Given the description of an element on the screen output the (x, y) to click on. 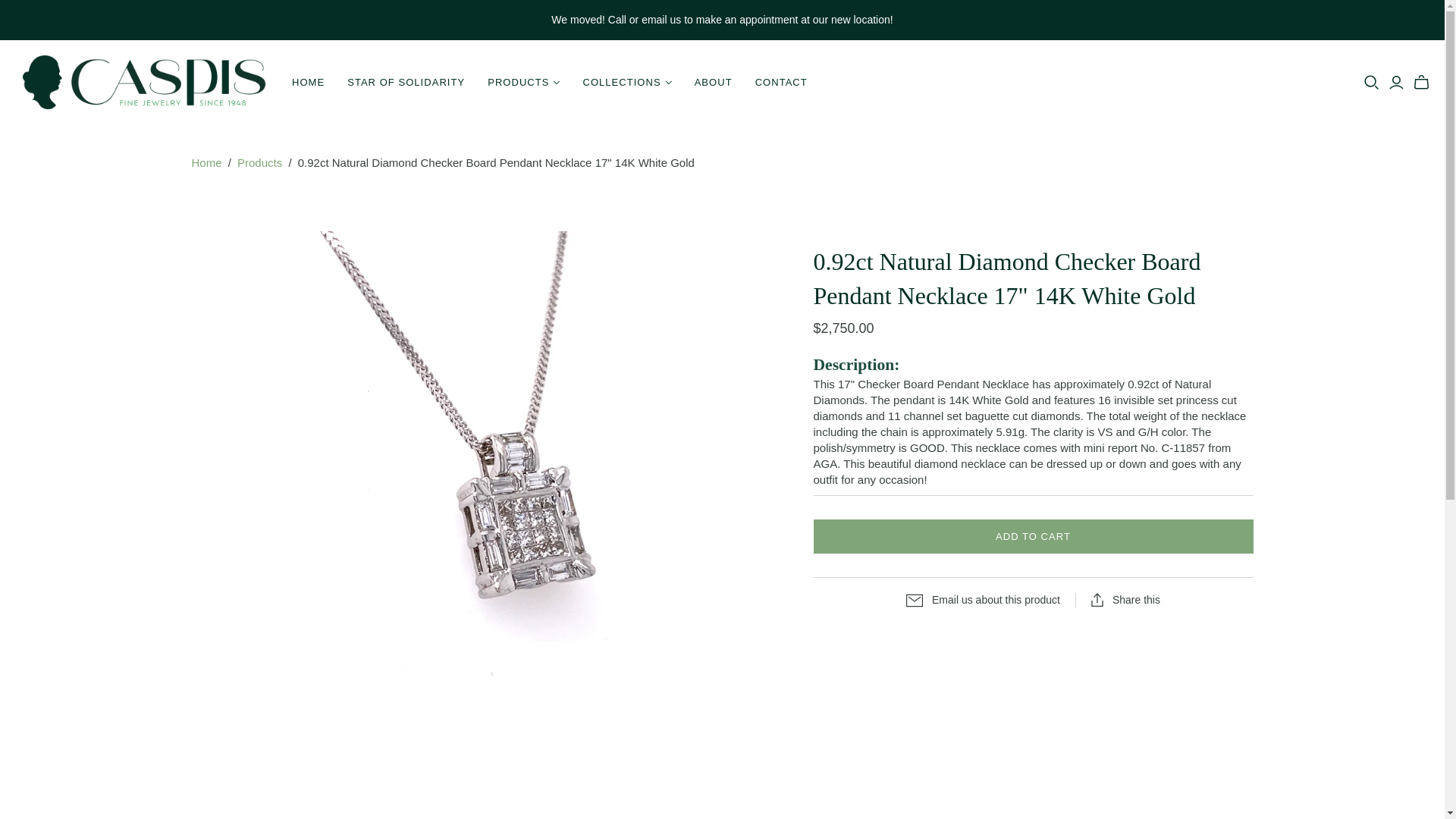
PRODUCTS (523, 81)
ABOUT (713, 81)
HOME (308, 81)
CONTACT (781, 81)
STAR OF SOLIDARITY (406, 81)
COLLECTIONS (626, 81)
